Given the description of an element on the screen output the (x, y) to click on. 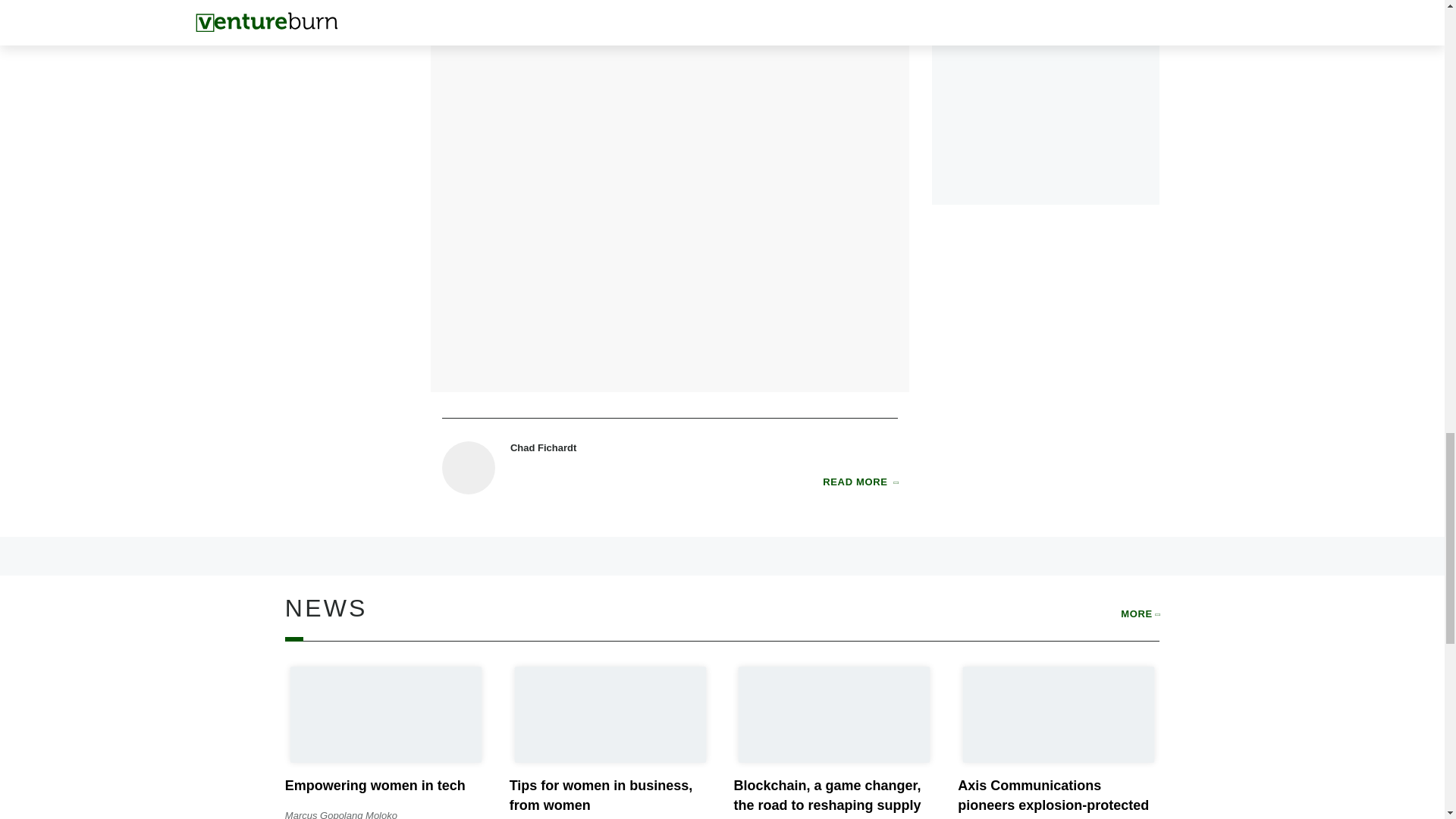
Tips for women in business, from women (601, 795)
Marcus Gopolang Moloko (341, 814)
MORE (1139, 614)
READ MORE (860, 482)
Empowering women in tech (375, 785)
